Given the description of an element on the screen output the (x, y) to click on. 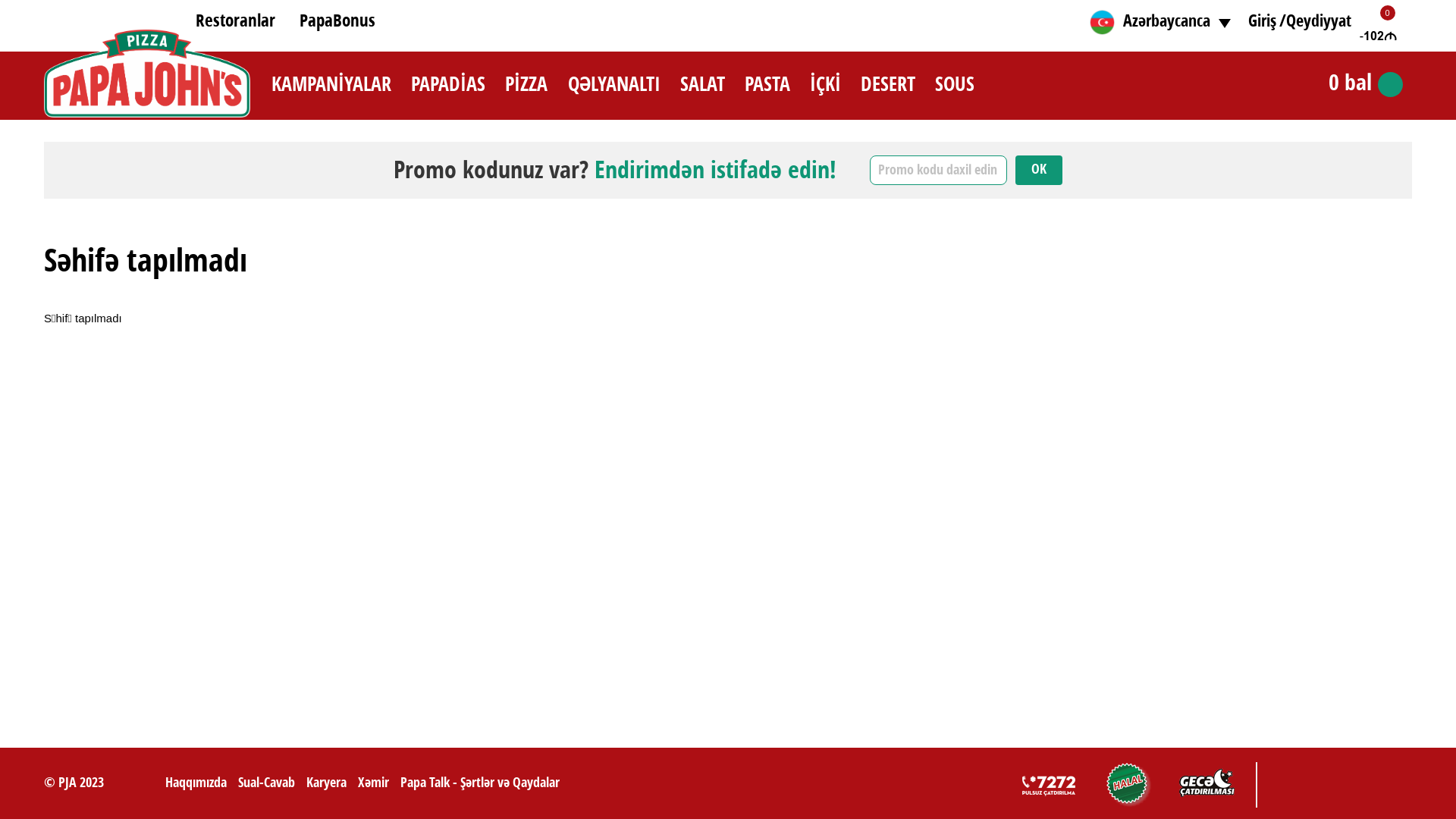
/Qeydiyyat Element type: text (1315, 21)
Karyera Element type: text (326, 783)
Sual-Cavab Element type: text (266, 783)
PAPADIAS Element type: text (448, 85)
SOUS Element type: text (954, 85)
OK Element type: text (1038, 170)
DESERT Element type: text (887, 85)
KAMPANIYALAR Element type: text (331, 85)
PIZZA Element type: text (526, 85)
SALAT Element type: text (702, 85)
0
-102 M Element type: text (1379, 35)
0 bal Element type: text (1351, 78)
PASTA Element type: text (767, 85)
PapaBonus Element type: text (337, 21)
Restoranlar Element type: text (235, 21)
